Given the description of an element on the screen output the (x, y) to click on. 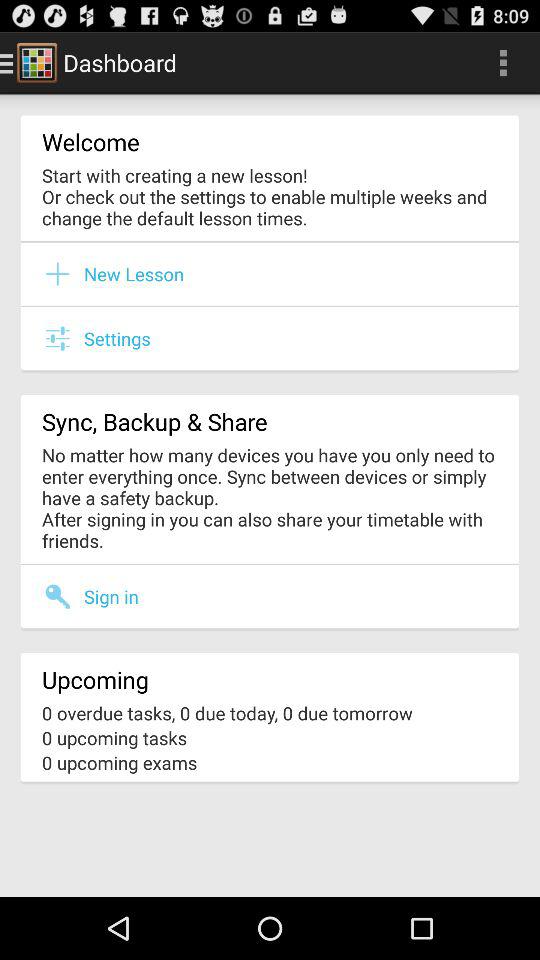
press the icon at the top right corner (503, 62)
